Given the description of an element on the screen output the (x, y) to click on. 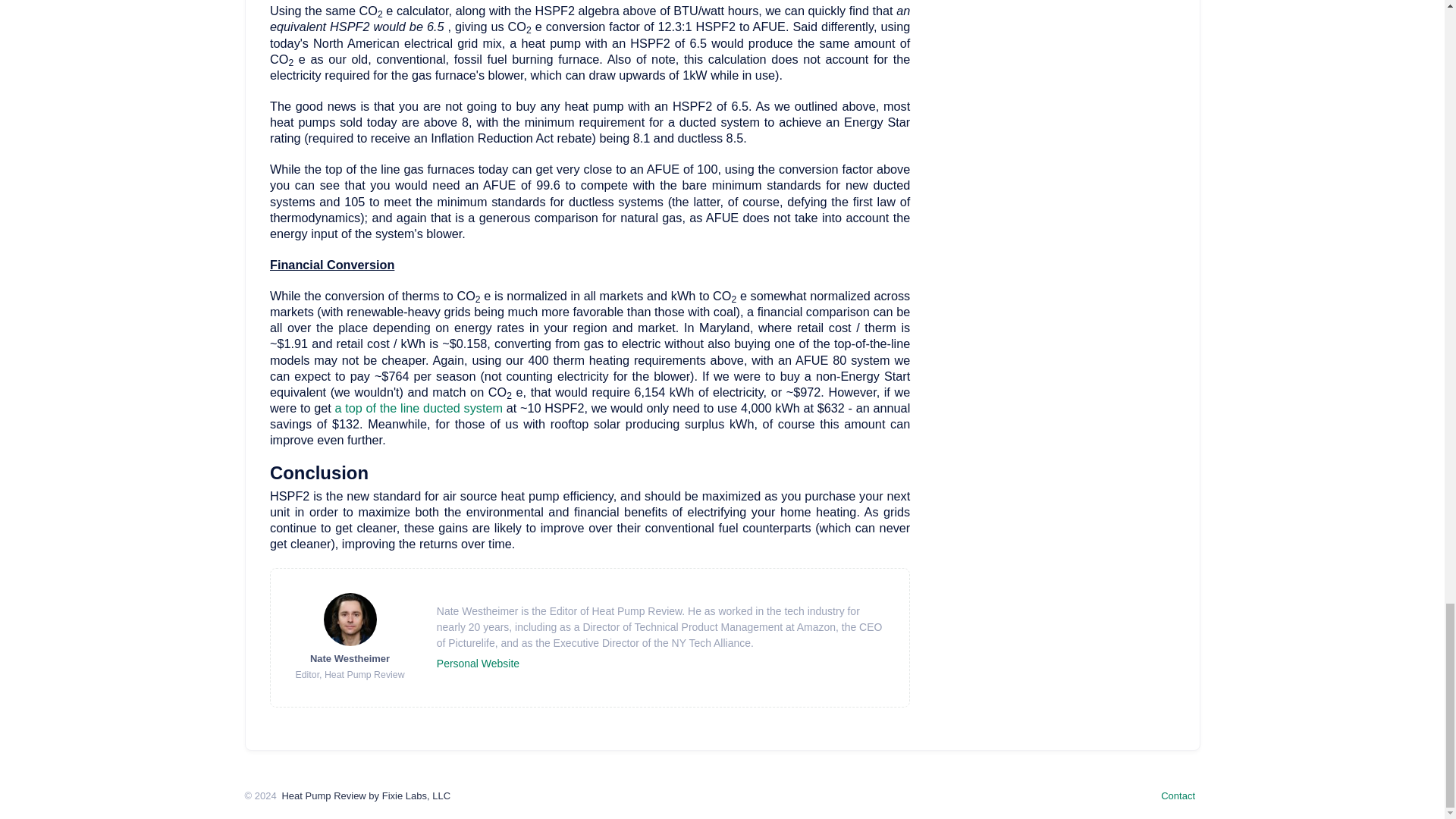
Heat Pump Review by Fixie Labs, LLC (365, 795)
a top of the line ducted system (419, 407)
Nate Westheimer (350, 658)
Personal Website (477, 663)
